Given the description of an element on the screen output the (x, y) to click on. 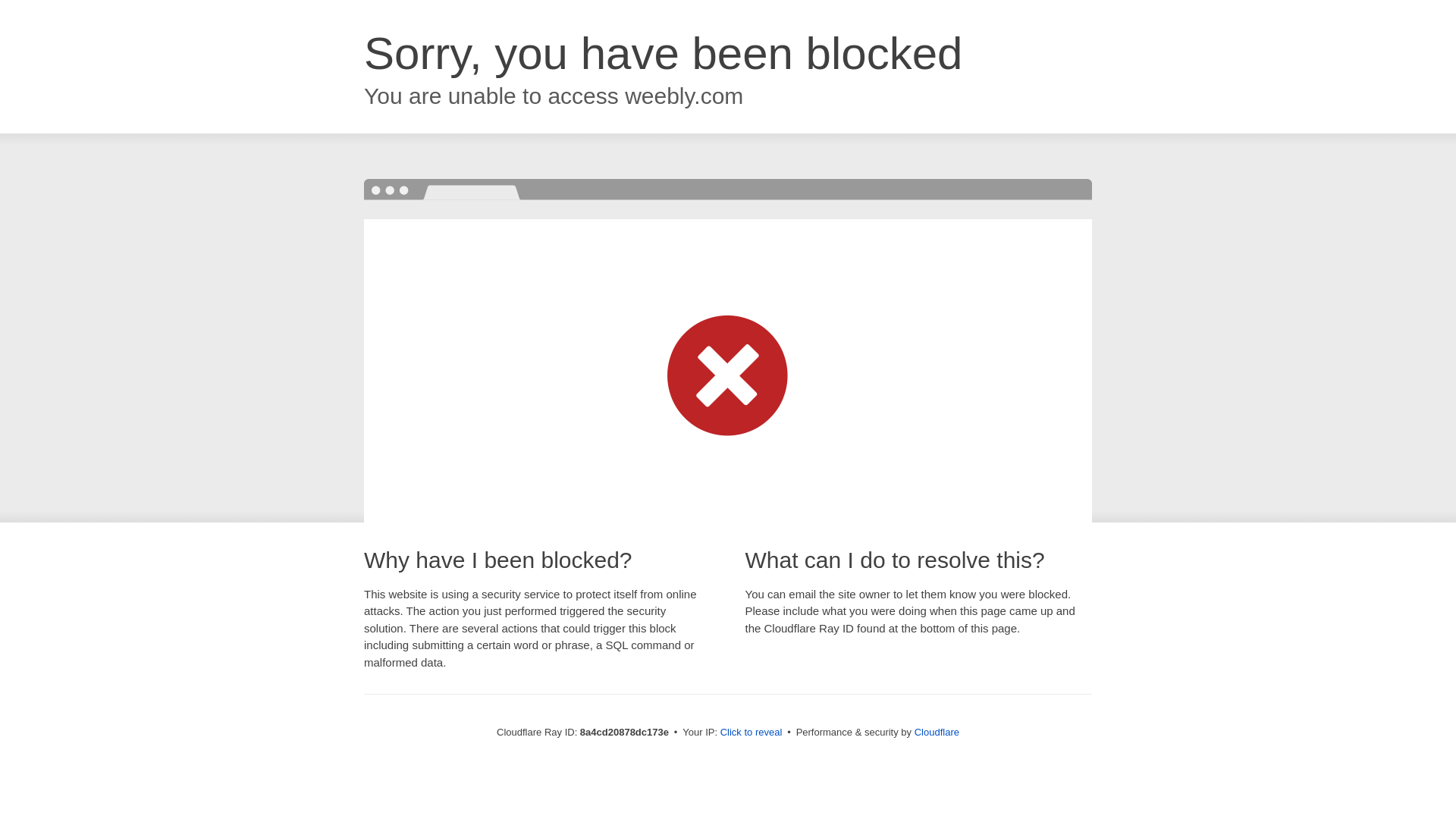
Click to reveal (751, 732)
Cloudflare (936, 731)
